Given the description of an element on the screen output the (x, y) to click on. 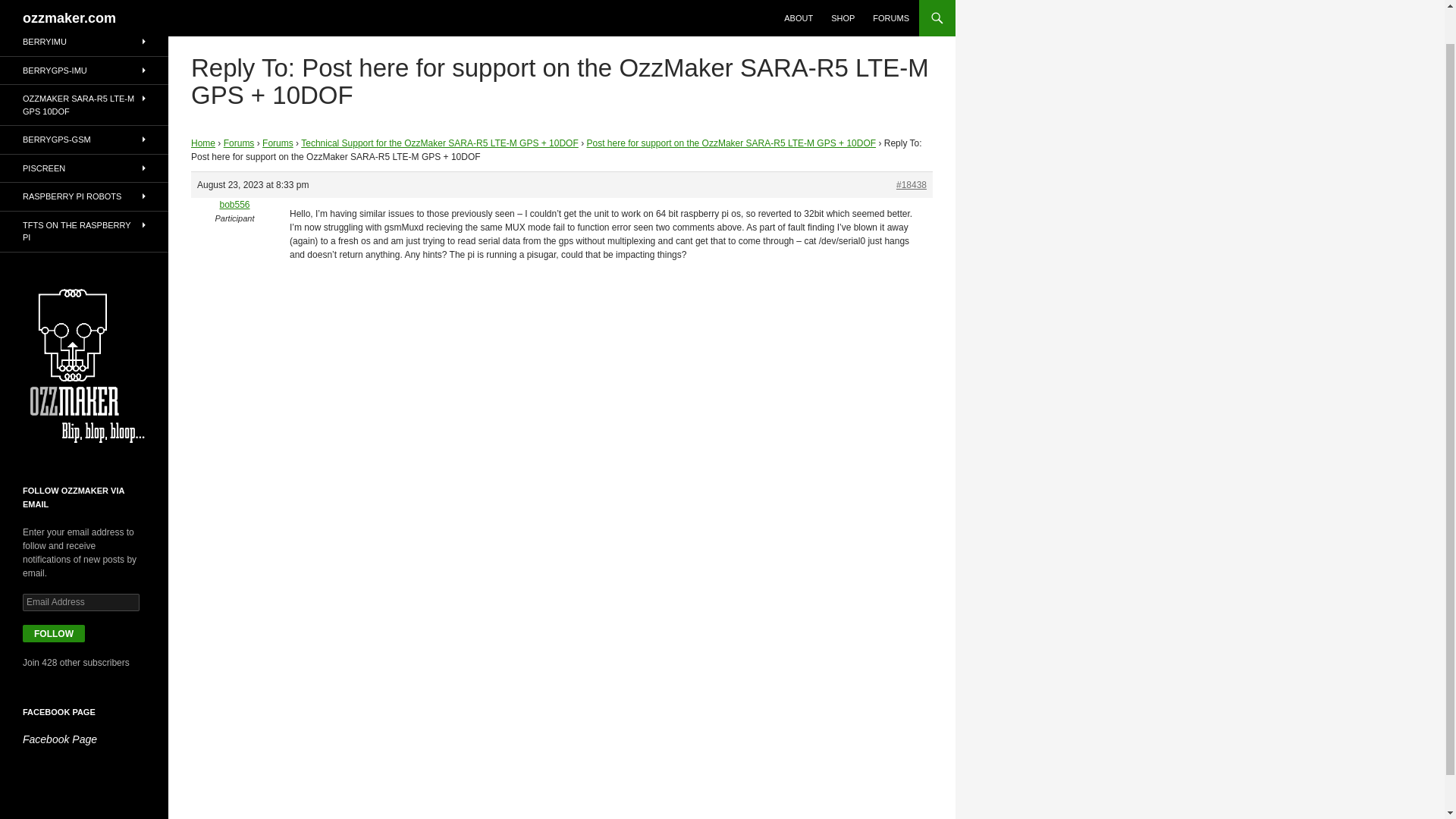
bob556 (234, 204)
View bob556's profile (234, 204)
OZZMAKER SARA-R5 LTE-M GPS 10DOF (84, 105)
BERRYGPS-IMU (84, 70)
Forums (239, 143)
Forums (278, 143)
BERRYIMU (84, 41)
Home (202, 143)
